Given the description of an element on the screen output the (x, y) to click on. 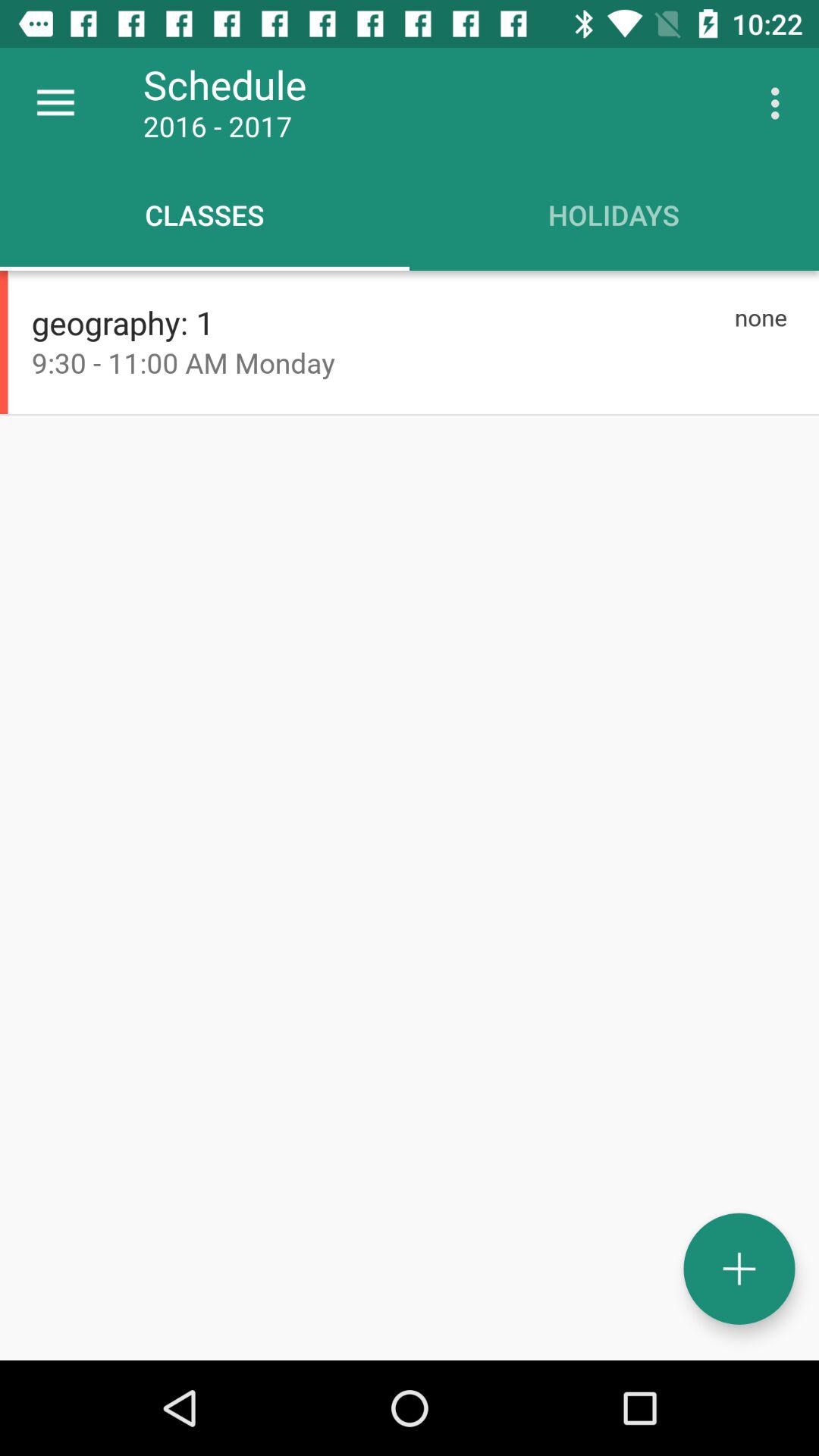
click the icon to the right of schedule (779, 103)
